Given the description of an element on the screen output the (x, y) to click on. 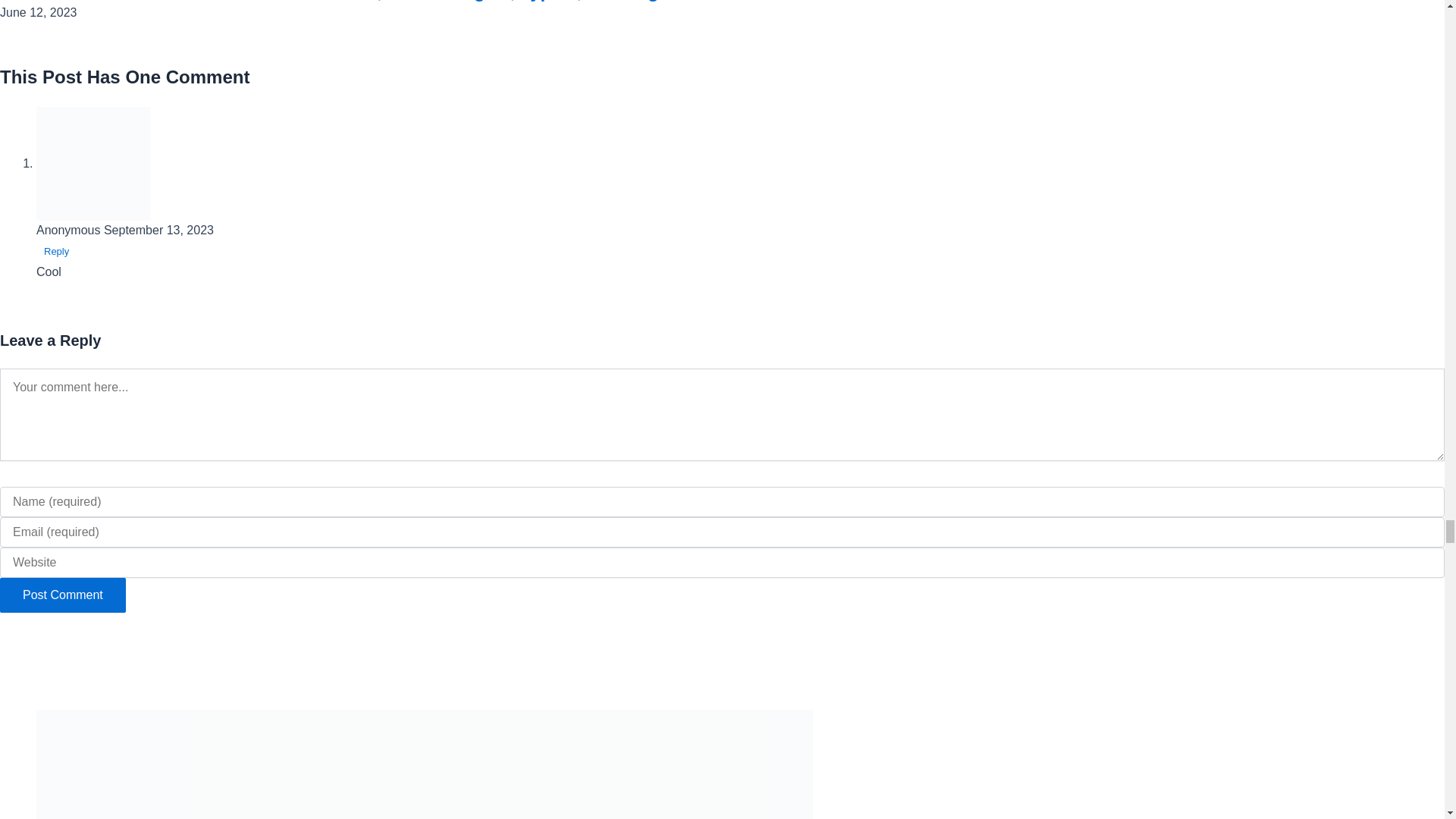
Post Comment (62, 595)
Post Comment (62, 595)
